Given the description of an element on the screen output the (x, y) to click on. 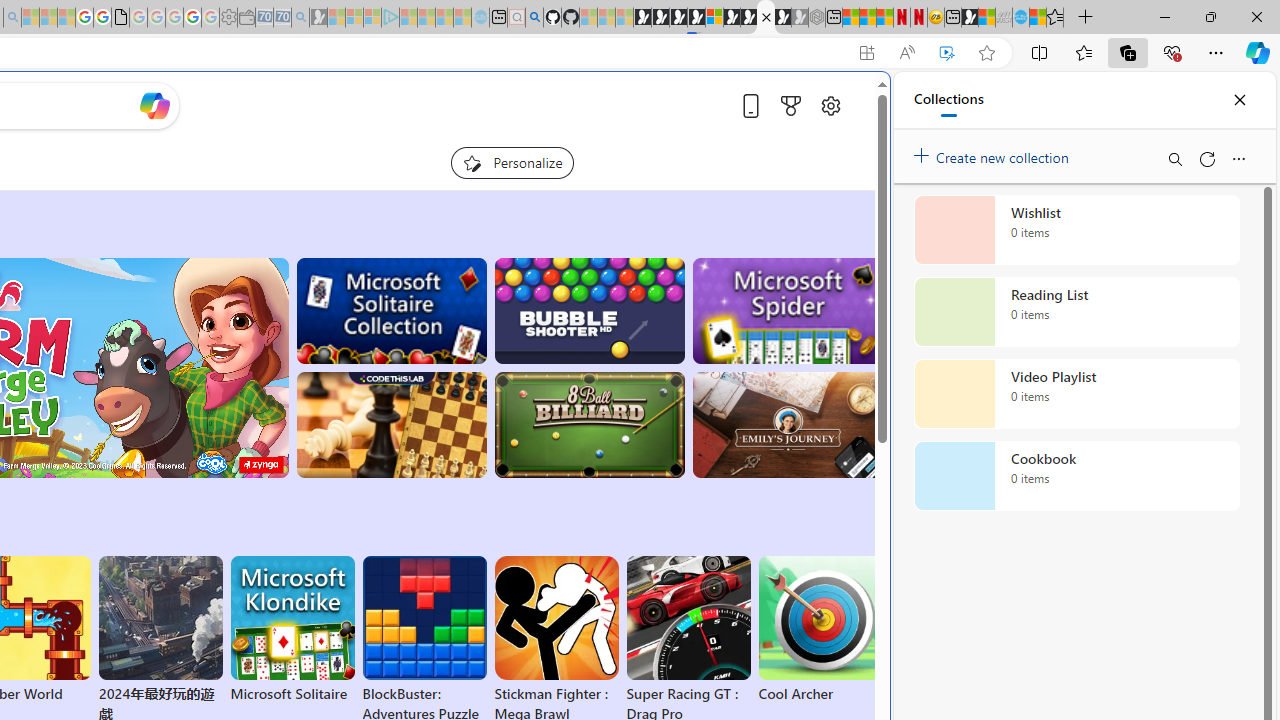
Tabs you've opened (276, 265)
Sign in to your account (714, 17)
Play Cave FRVR in your browser | Games from Microsoft Start (678, 17)
Personalize your feed" (511, 162)
